Given the description of an element on the screen output the (x, y) to click on. 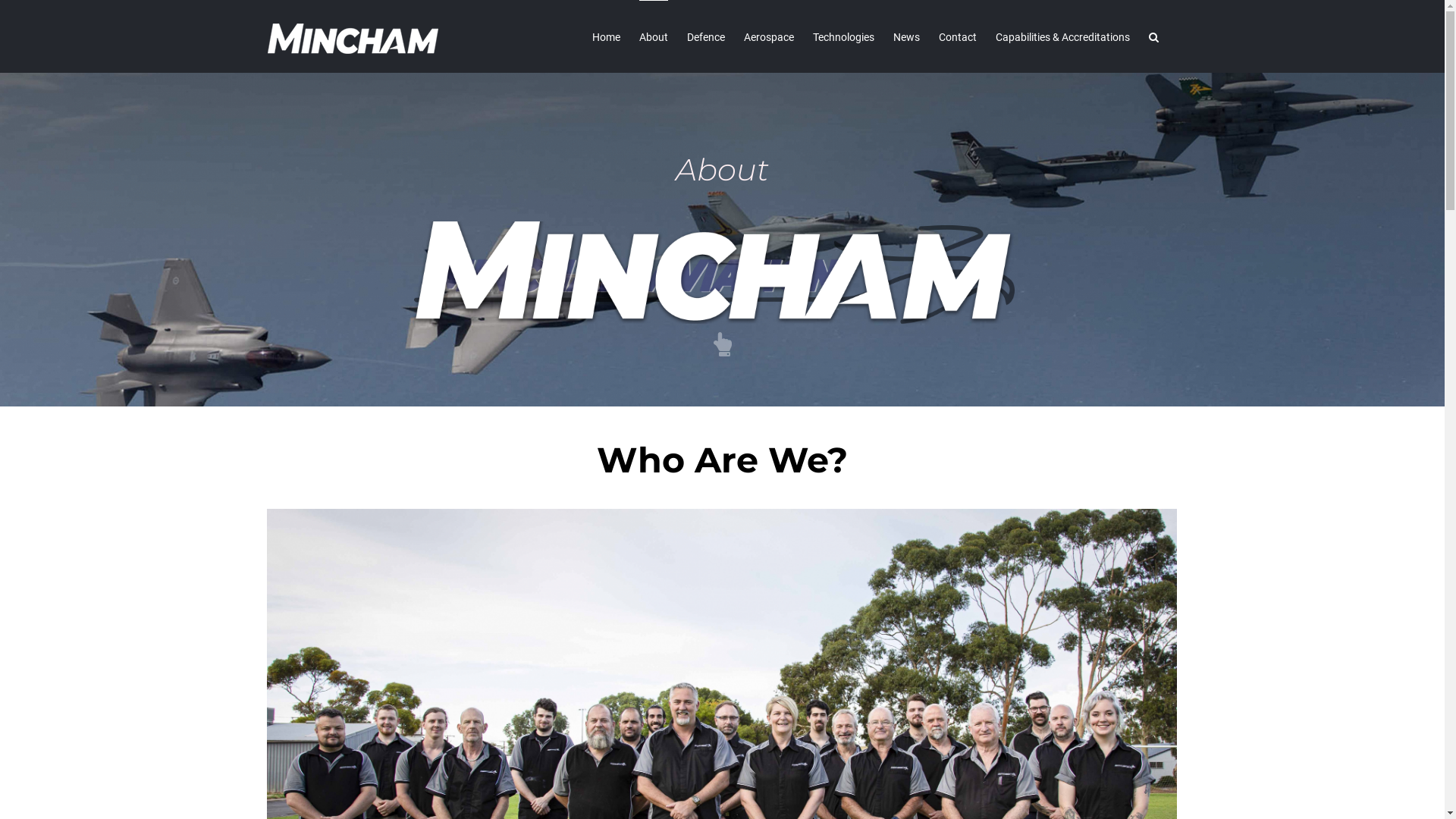
Aerospace Element type: text (768, 36)
Contact Element type: text (957, 36)
News Element type: text (906, 36)
Home Element type: text (605, 36)
GroupPhoto Element type: hover (721, 516)
Defence Element type: text (705, 36)
About Element type: text (652, 36)
Technologies Element type: text (843, 36)
Capabilities & Accreditations Element type: text (1061, 36)
Search Element type: hover (1152, 36)
